Given the description of an element on the screen output the (x, y) to click on. 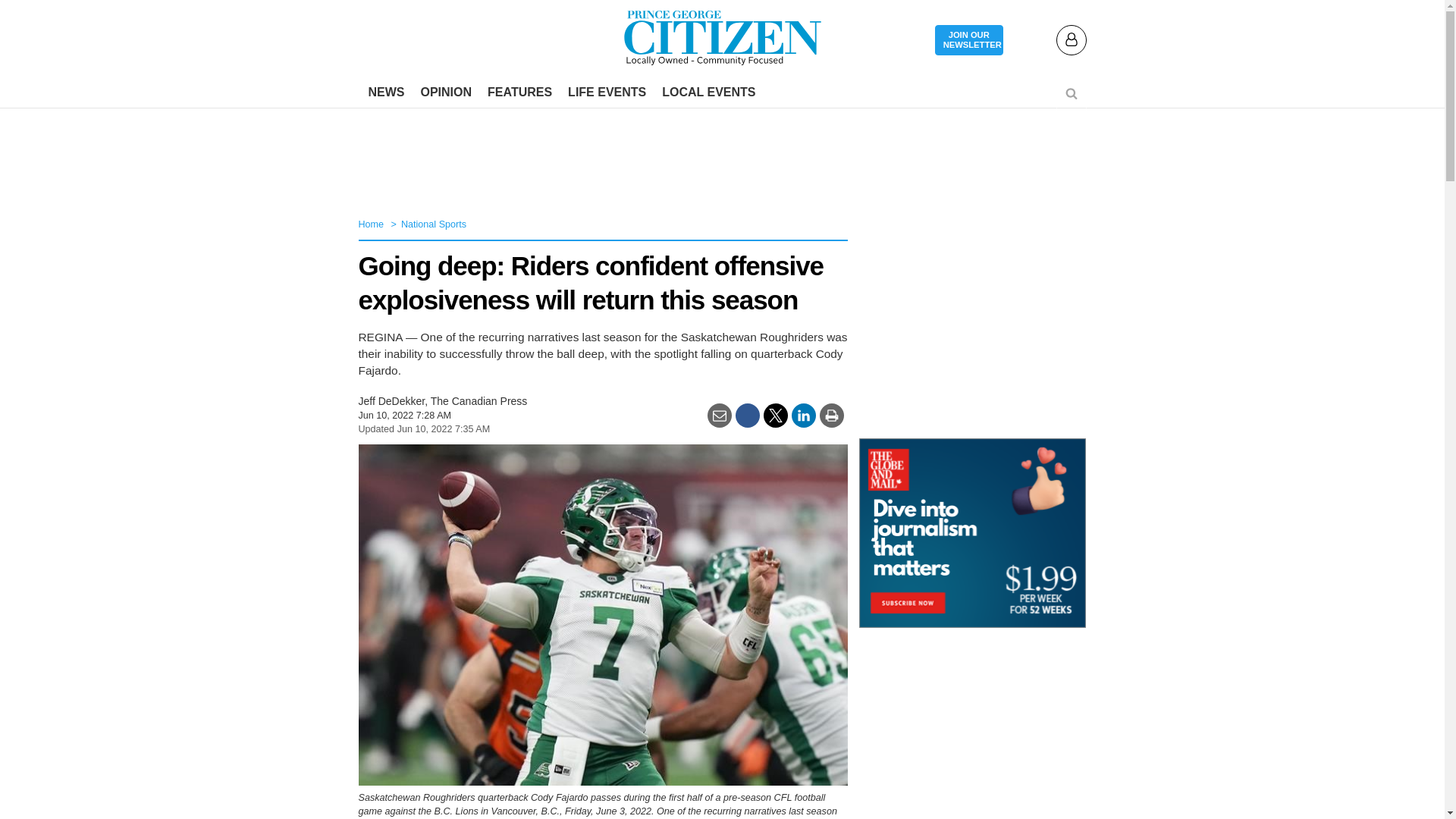
OPINION (445, 92)
JOIN OUR NEWSLETTER (968, 40)
NEWS (386, 92)
